Given the description of an element on the screen output the (x, y) to click on. 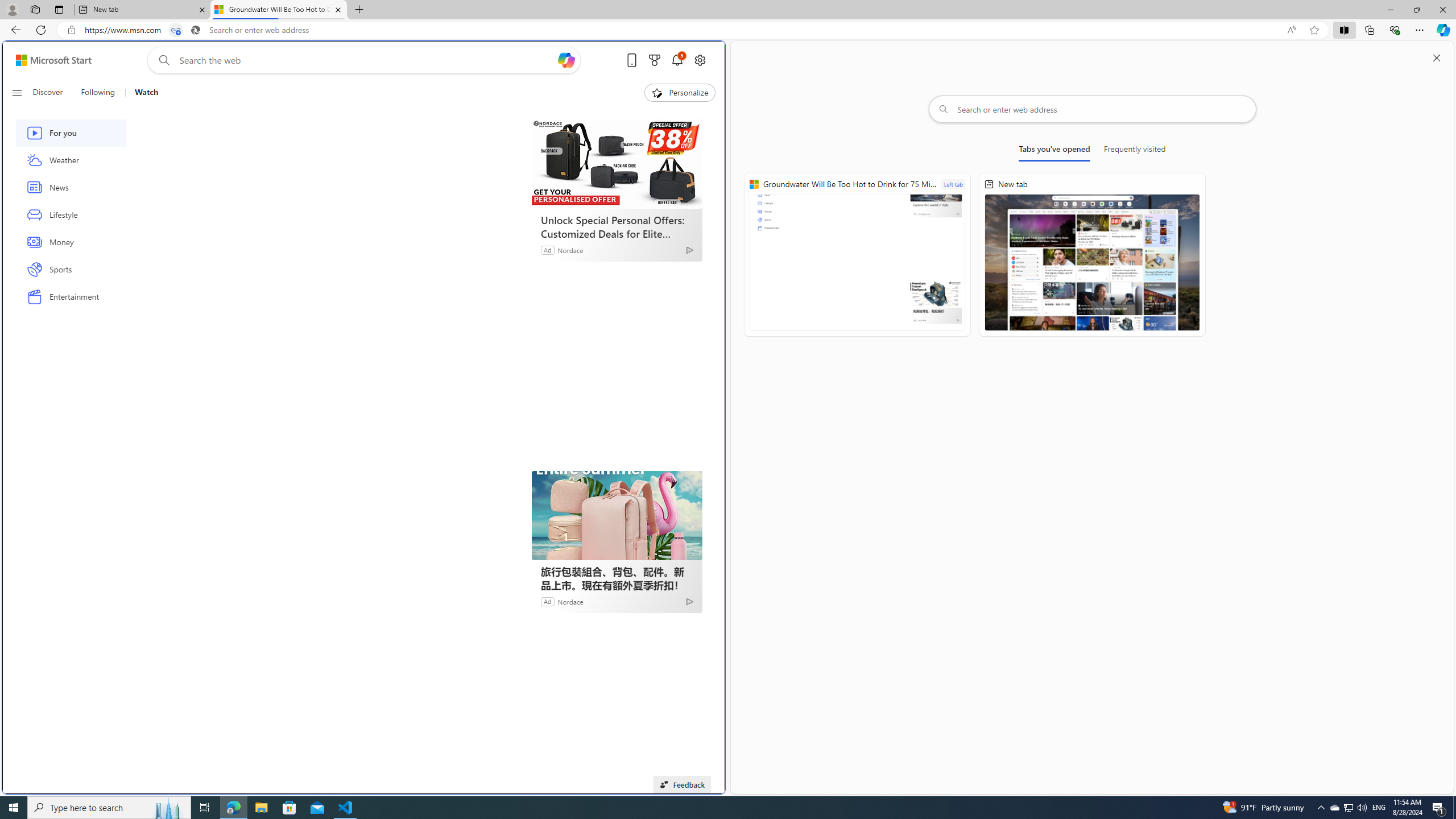
Tabs in split screen (175, 29)
Frequently visited (1134, 151)
Notifications (676, 60)
Web search (161, 60)
Open settings (699, 60)
Class: button-glyph (16, 92)
